Given the description of an element on the screen output the (x, y) to click on. 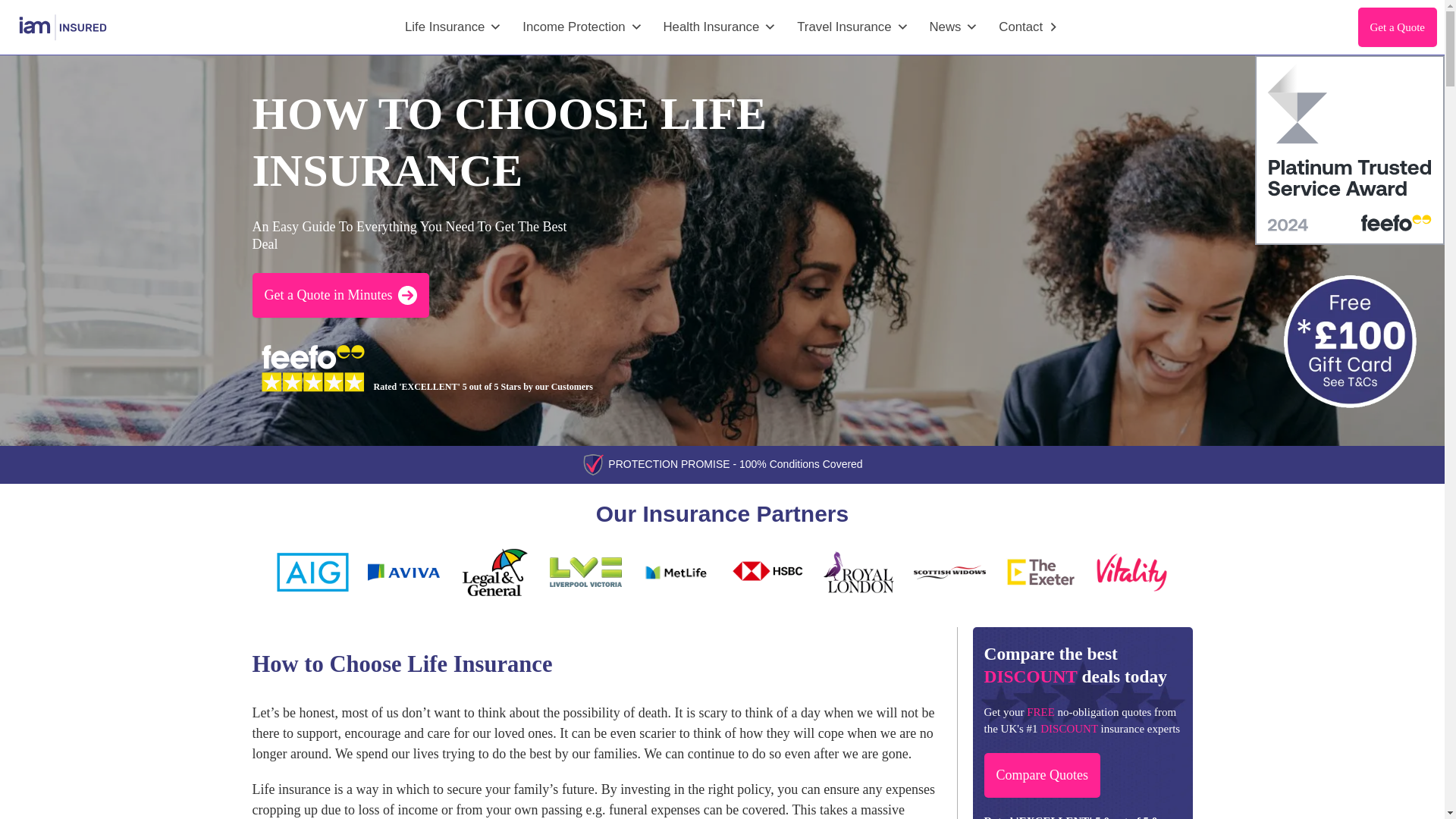
Top rated Life Insurance and Health Insurance Specialists (62, 26)
Life Insurance (453, 26)
Compare Quotes (1042, 774)
Get a Quote (1397, 27)
Get a Quote in Minutes (340, 294)
